Given the description of an element on the screen output the (x, y) to click on. 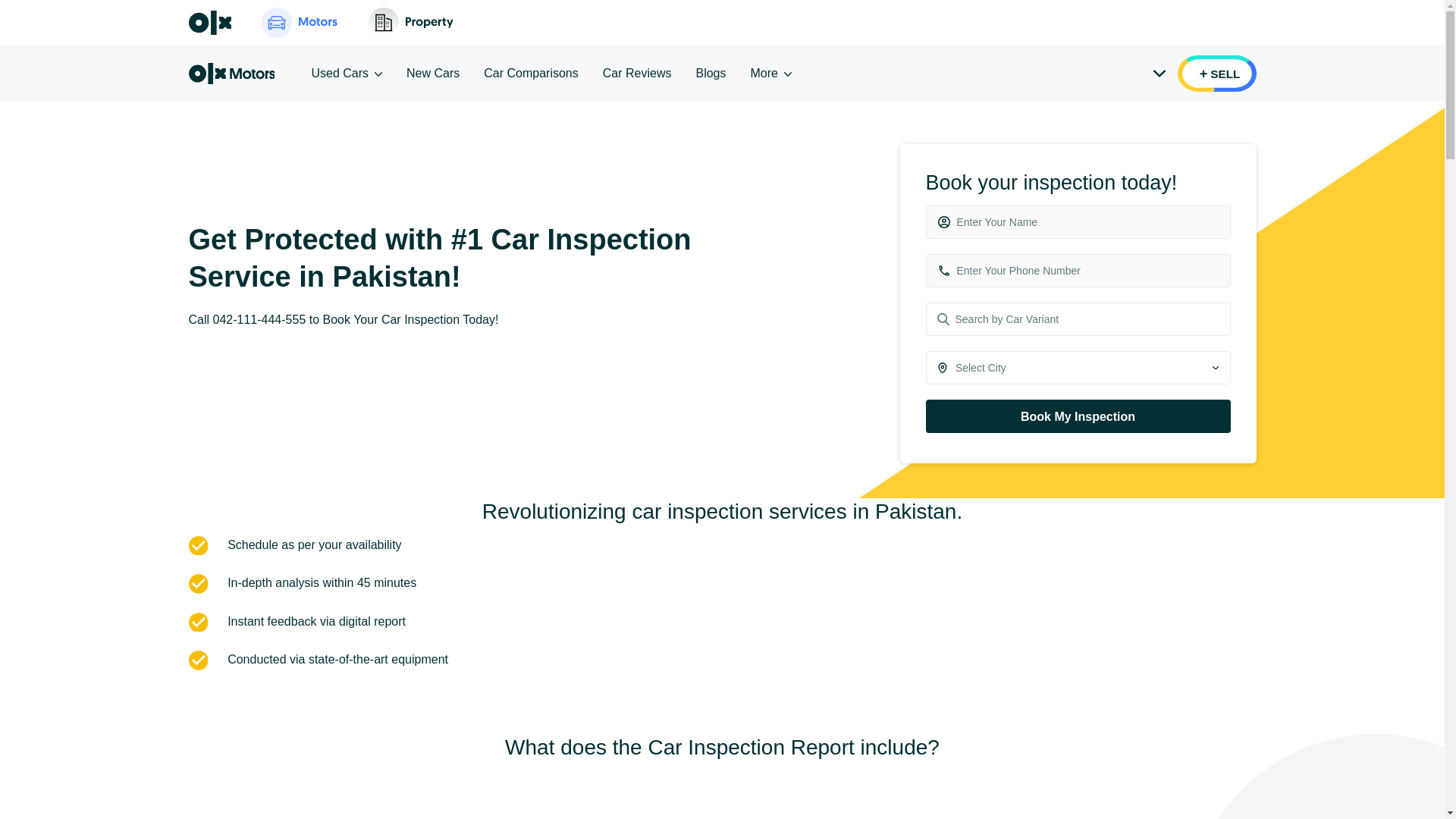
SELL (1215, 73)
Blogs (710, 73)
Car Comparisons (530, 73)
SELL (1215, 73)
New Cars (433, 73)
Car Reviews (636, 73)
Select City (1083, 368)
Search by Car Variant (1077, 318)
Book My Inspection (1077, 416)
